Given the description of an element on the screen output the (x, y) to click on. 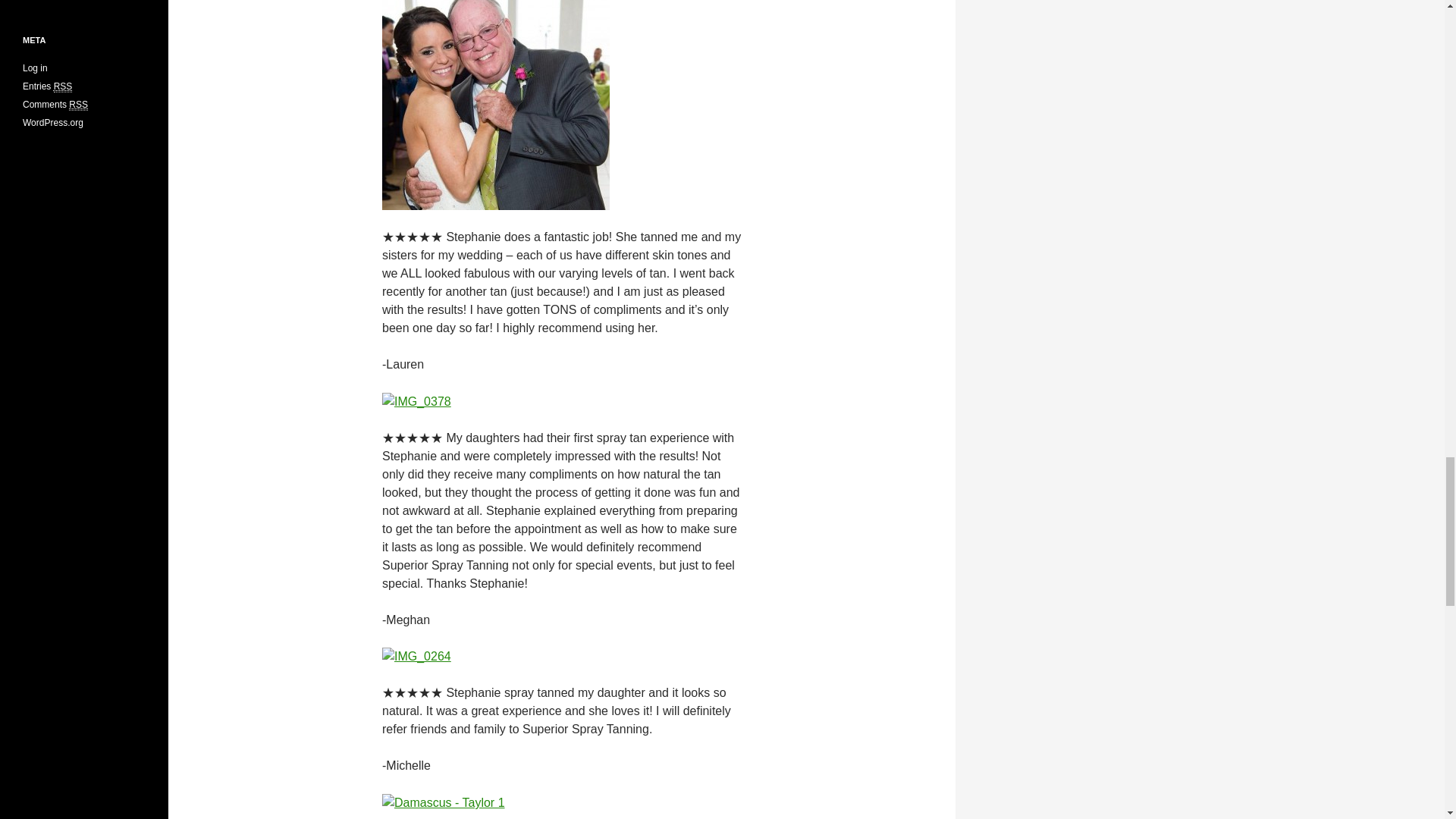
Really Simple Syndication (62, 86)
Really Simple Syndication (77, 104)
